Given the description of an element on the screen output the (x, y) to click on. 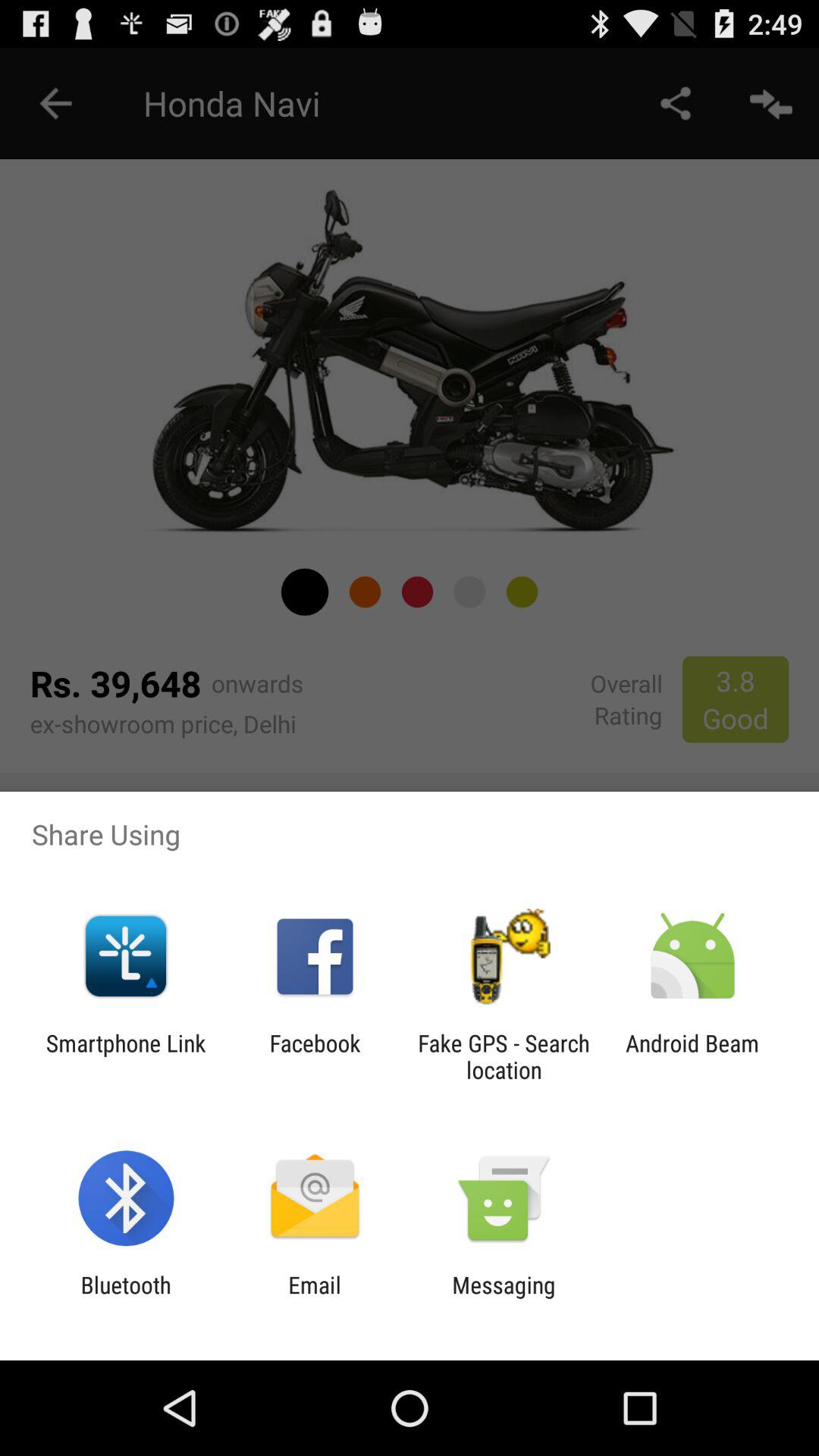
press icon to the right of email item (503, 1298)
